Given the description of an element on the screen output the (x, y) to click on. 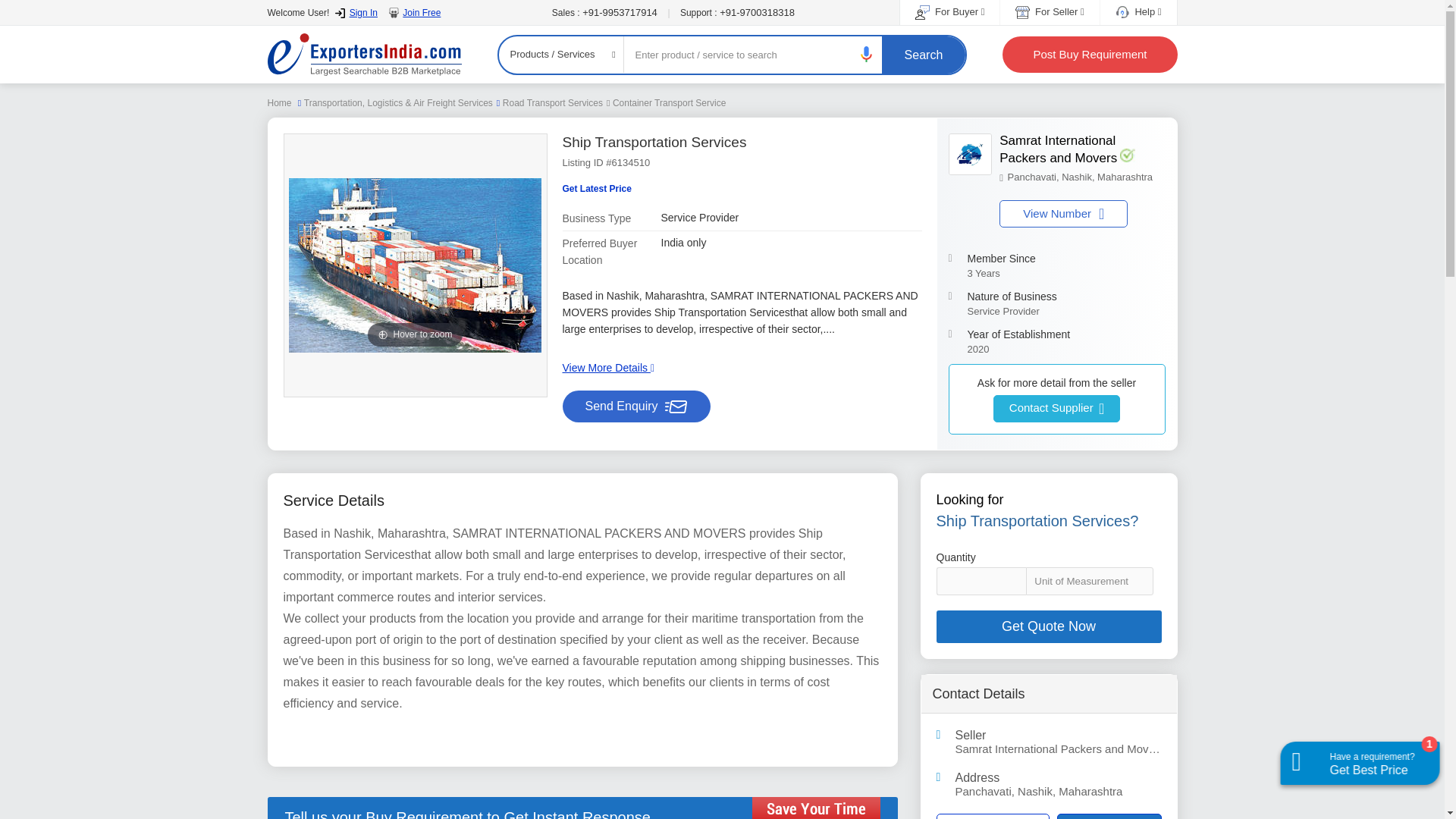
Get Latest Price (596, 189)
Send Enquiry (636, 406)
Container Transport Service (668, 102)
Contact Supplier (1055, 408)
Login to Exportersindia (355, 12)
Exporters India (363, 54)
Join Free (414, 12)
Search (924, 54)
Post Buy Requirement (1089, 54)
Sign In (355, 12)
For Seller (1048, 11)
Road Transport Services (552, 102)
For Buyer (949, 11)
Verified (1127, 155)
